Given the description of an element on the screen output the (x, y) to click on. 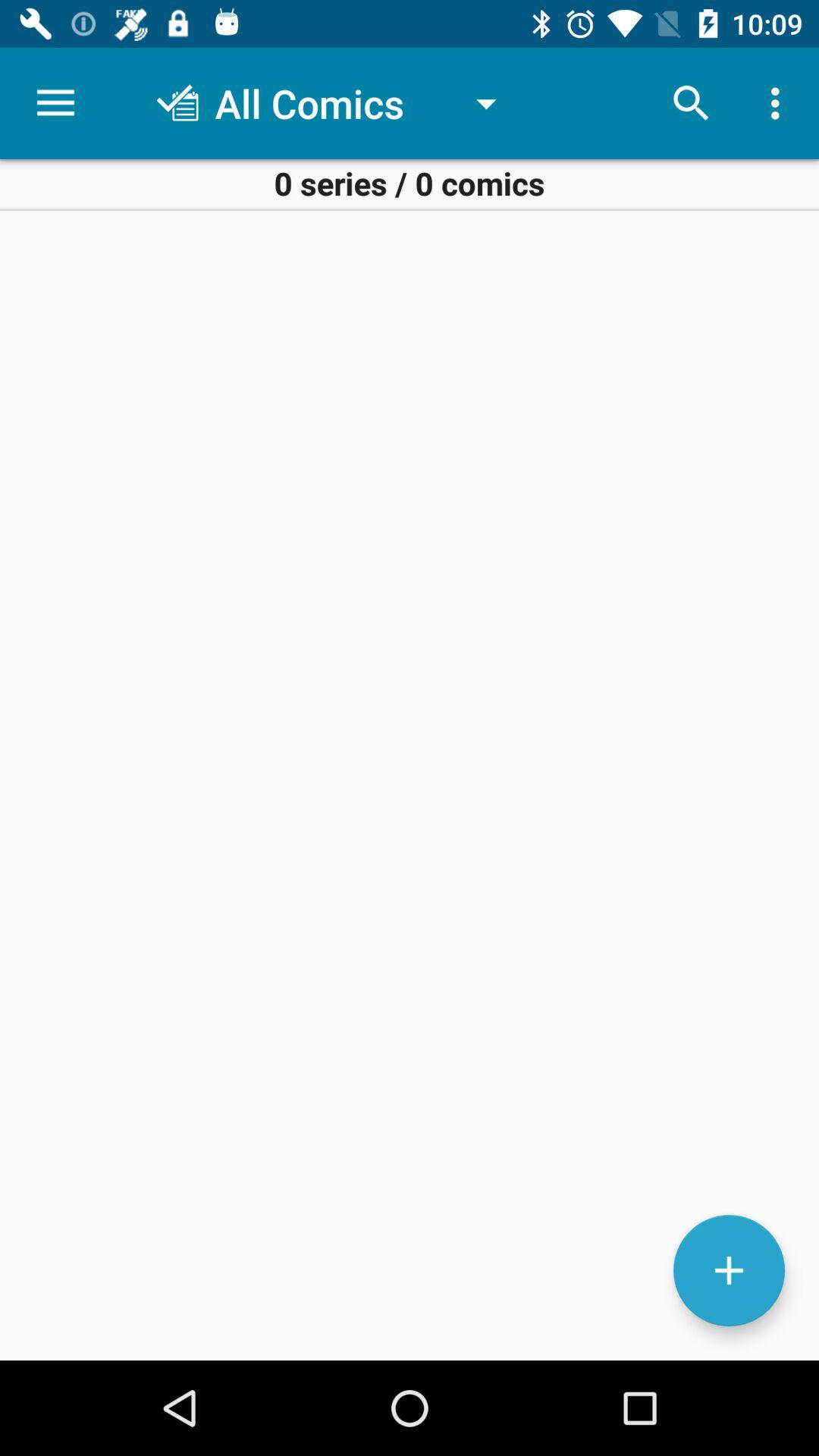
add switch option (728, 1270)
